Given the description of an element on the screen output the (x, y) to click on. 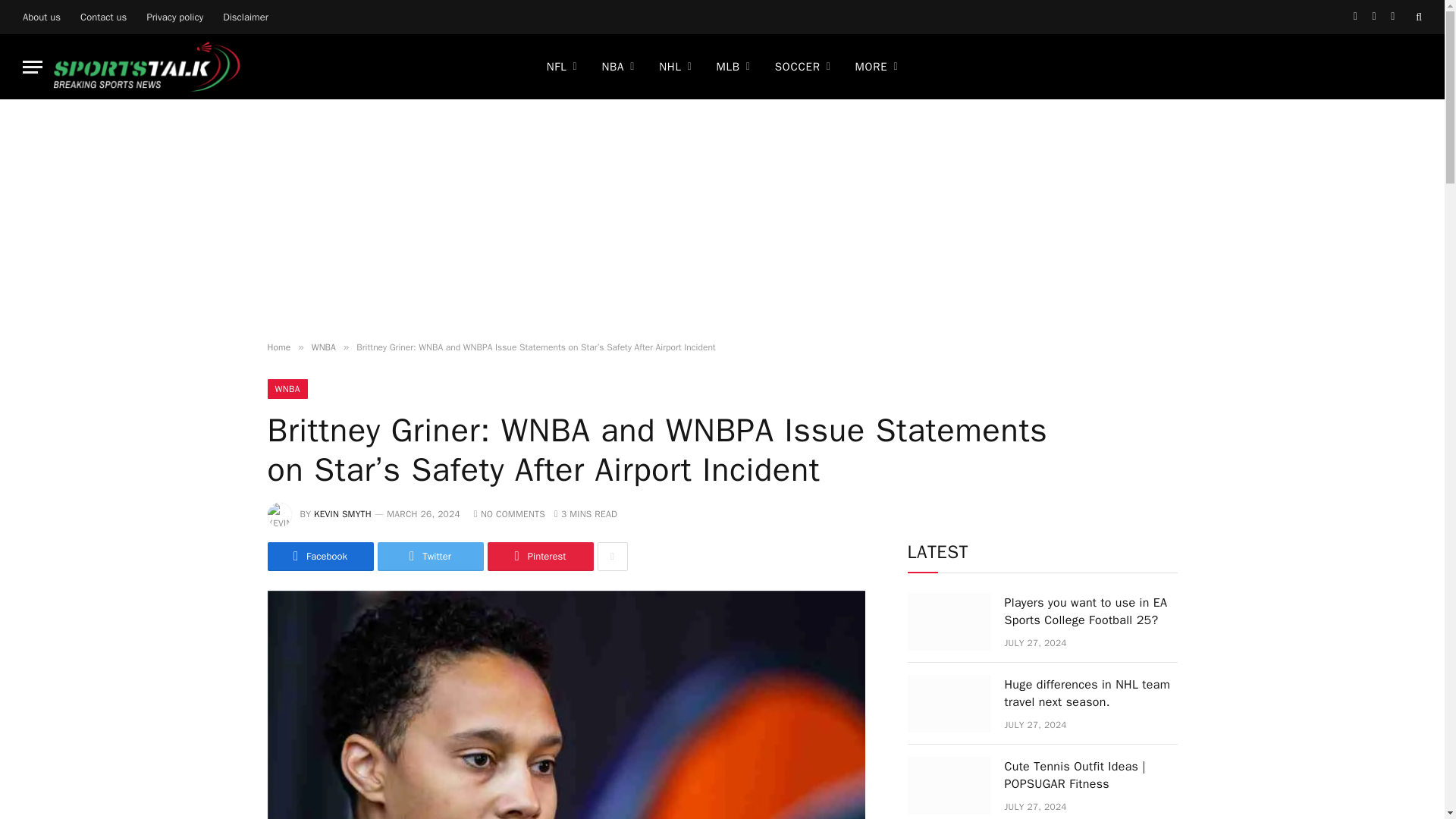
Search (1417, 17)
Instagram (1392, 17)
Contact us (102, 17)
Sportstalk (146, 66)
NFL (561, 66)
NBA (617, 66)
Privacy policy (174, 17)
Facebook (1355, 17)
Disclaimer (245, 17)
About us (41, 17)
